Given the description of an element on the screen output the (x, y) to click on. 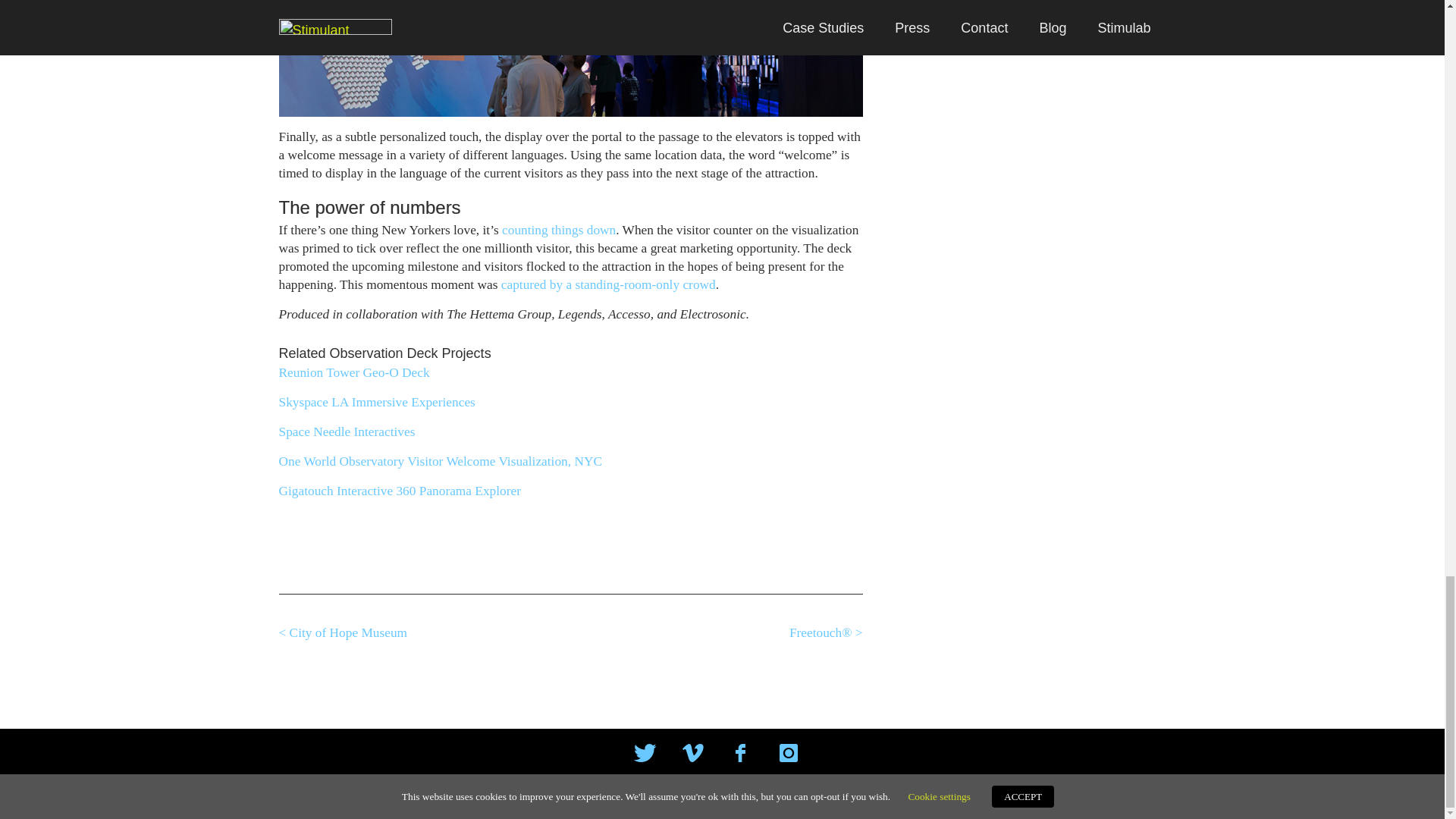
Skyspace LA Immersive Experiences (377, 401)
One World Observatory Visitor Welcome Visualization, NYC (440, 461)
Space Needle Interactives (346, 431)
Reunion Tower Geo-O Deck (354, 372)
captured by a standing-room-only crowd (608, 284)
counting things down (558, 229)
Gigatouch Interactive 360 Panorama Explorer (400, 490)
